Given the description of an element on the screen output the (x, y) to click on. 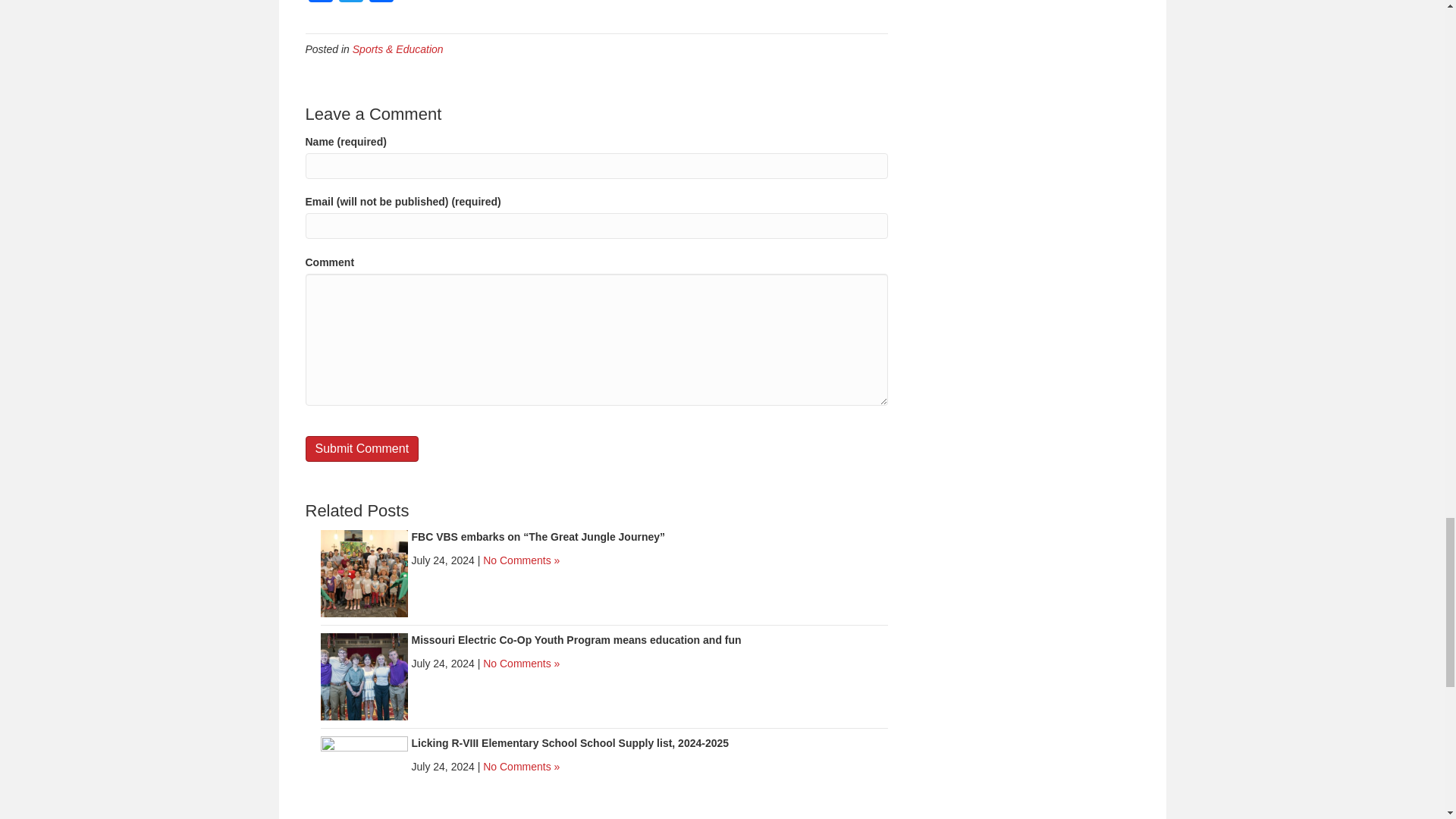
Share (380, 2)
Facebook (319, 2)
Twitter (349, 2)
Submit Comment (361, 448)
